Given the description of an element on the screen output the (x, y) to click on. 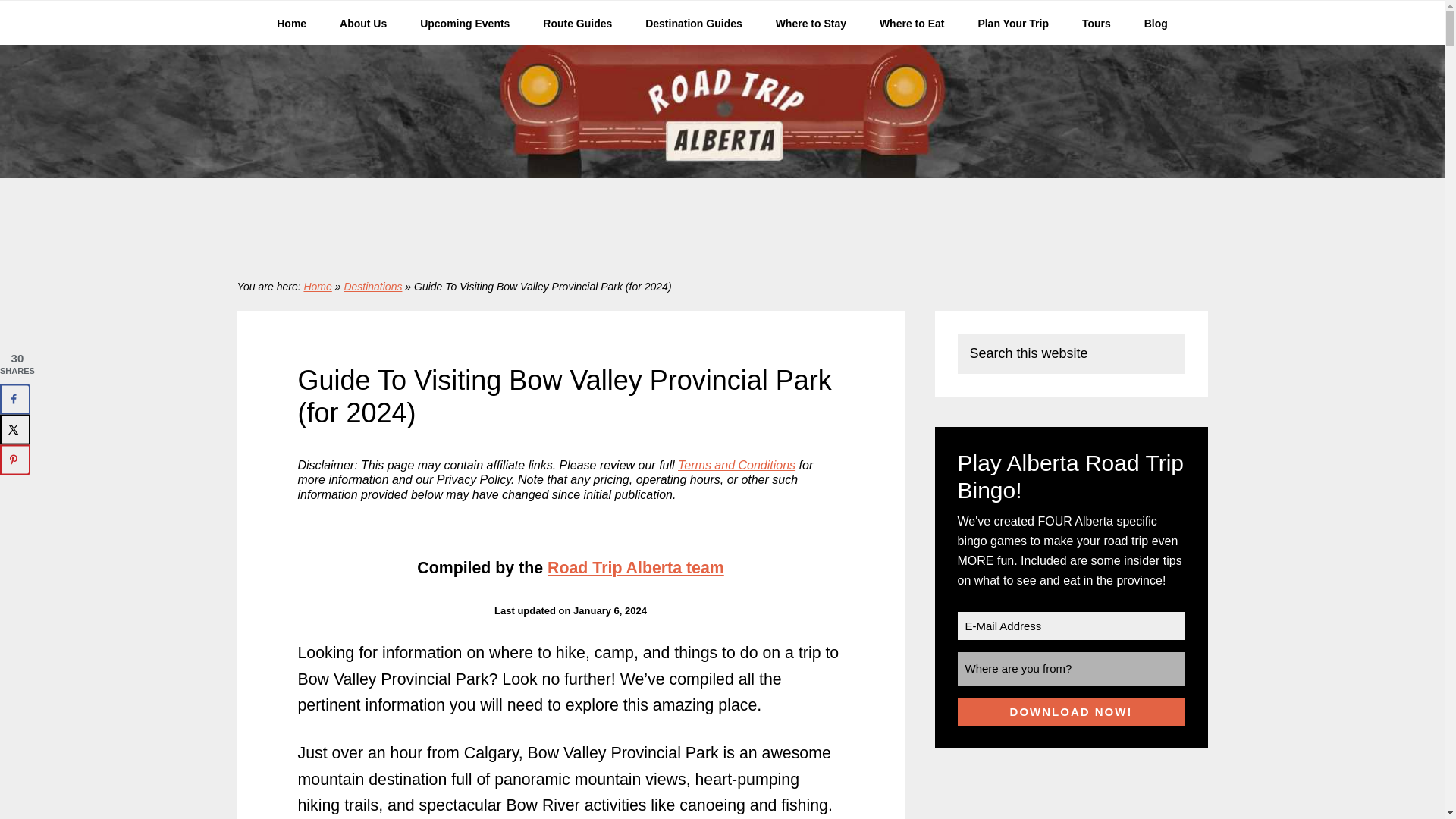
Home (291, 22)
Route Guides (577, 22)
Save to Pinterest (15, 459)
Download now! (1070, 711)
Share on X (15, 429)
Destination Guides (693, 22)
About Us (362, 22)
Where to Stay (810, 22)
Share on Facebook (15, 399)
Upcoming Events (464, 22)
